Given the description of an element on the screen output the (x, y) to click on. 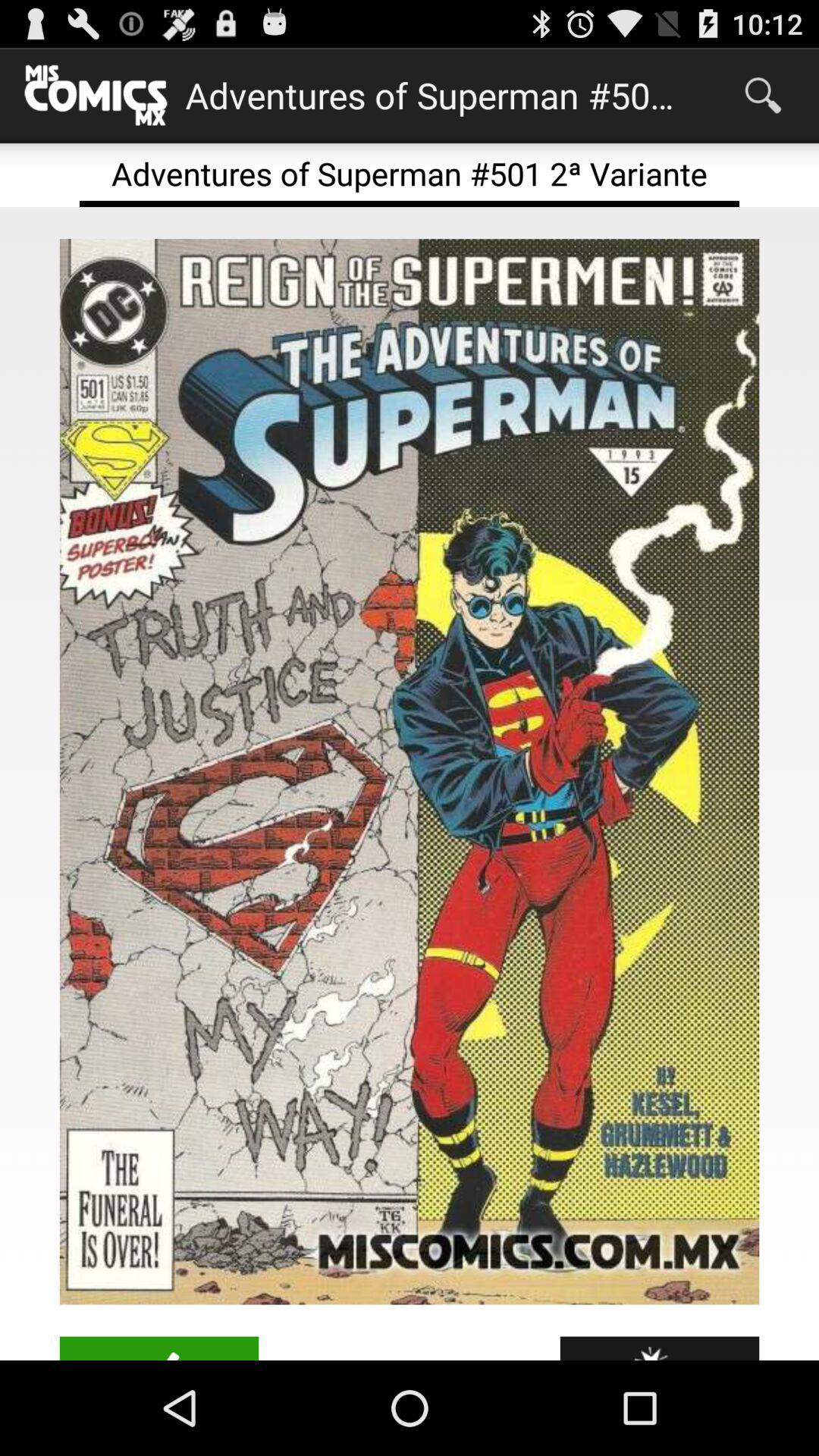
creat message (158, 1348)
